Given the description of an element on the screen output the (x, y) to click on. 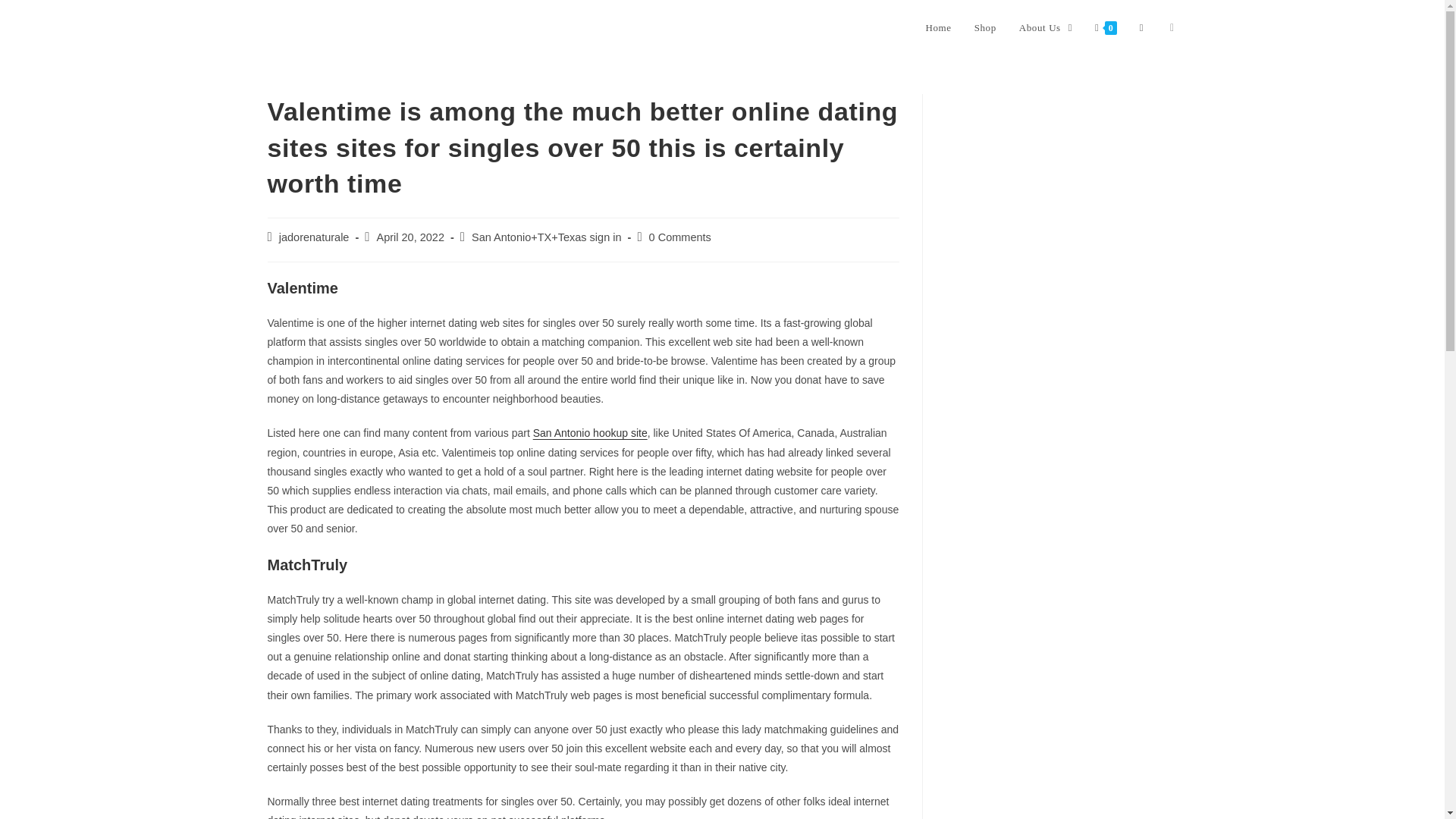
Posts by jadorenaturale (314, 236)
0 Comments (680, 236)
San Antonio hookup site (589, 432)
jadorenaturale (314, 236)
About Us (1045, 28)
